Given the description of an element on the screen output the (x, y) to click on. 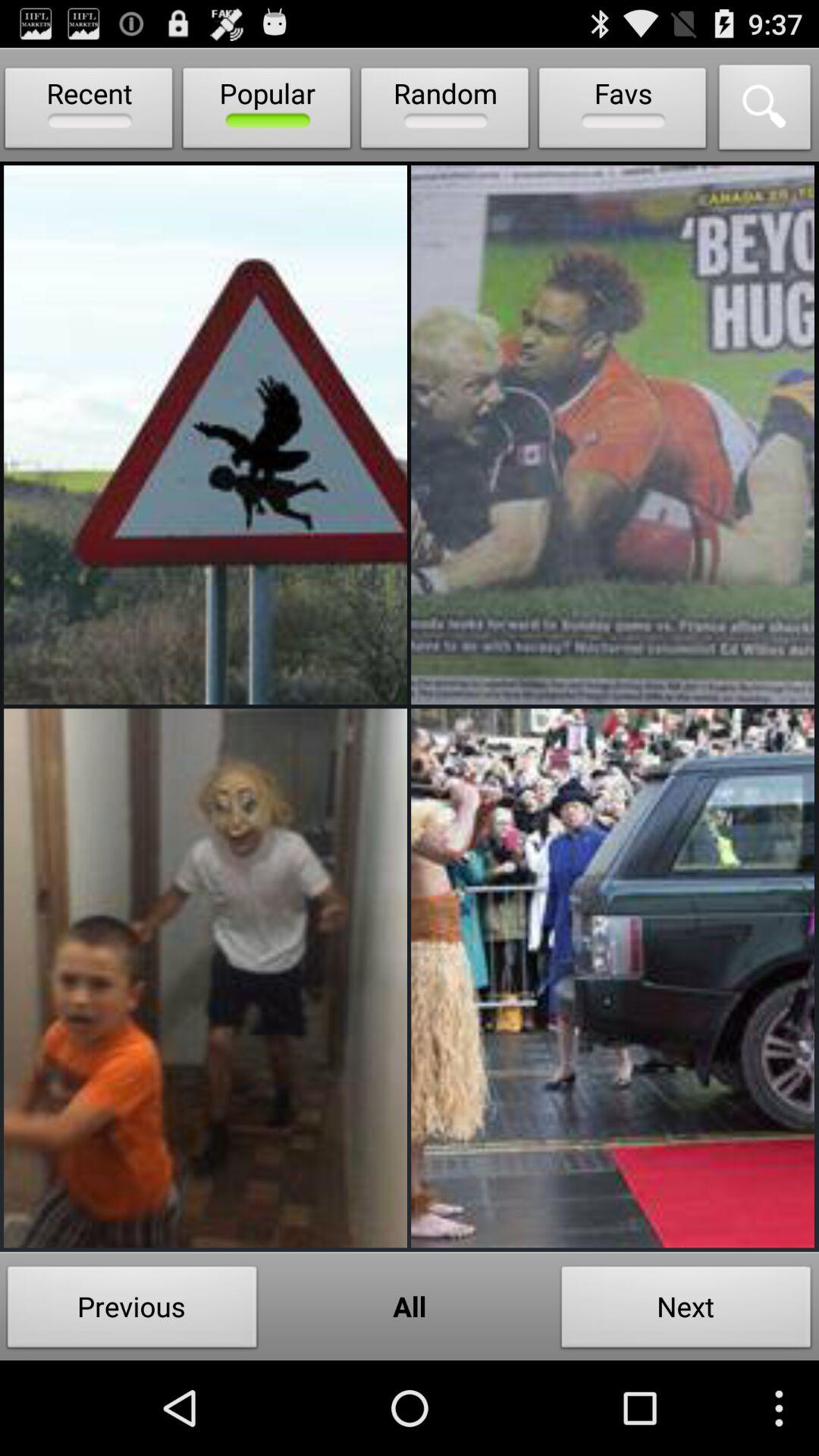
launch button next to next item (409, 1306)
